Given the description of an element on the screen output the (x, y) to click on. 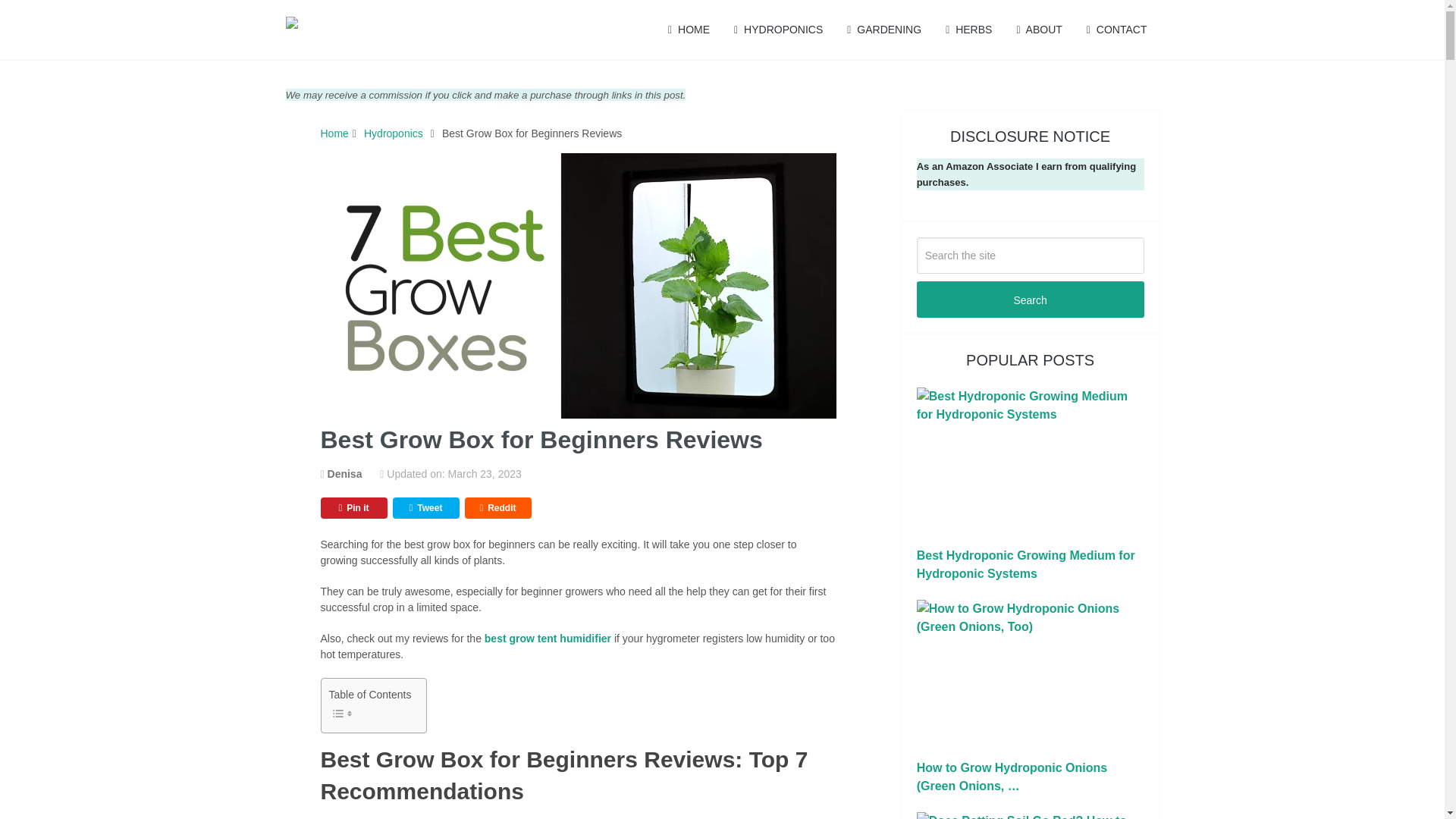
GARDENING (883, 29)
Posts by Denisa (344, 473)
Pin it (353, 507)
Denisa (344, 473)
ABOUT (1039, 29)
Tweet (426, 507)
CONTACT (1116, 29)
Home (333, 133)
HOME (689, 29)
HERBS (968, 29)
